Given the description of an element on the screen output the (x, y) to click on. 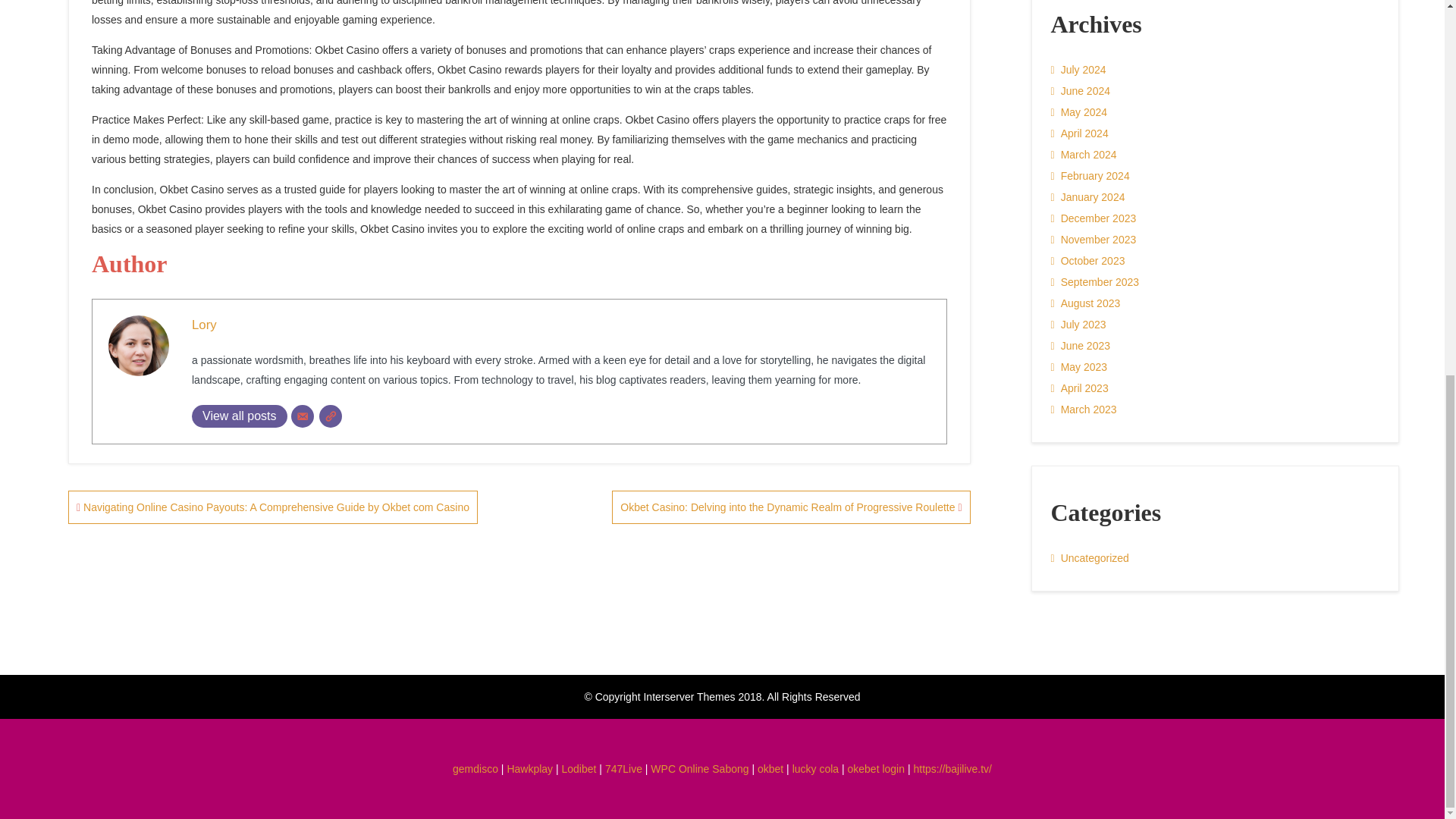
Lory (204, 324)
View all posts (239, 415)
May 2024 (1079, 111)
October 2023 (1088, 260)
March 2024 (1083, 154)
February 2024 (1090, 175)
November 2023 (1094, 239)
June 2024 (1080, 90)
View all posts (239, 415)
September 2023 (1095, 281)
June 2023 (1080, 345)
April 2023 (1079, 387)
May 2023 (1079, 366)
Lory (204, 324)
